Given the description of an element on the screen output the (x, y) to click on. 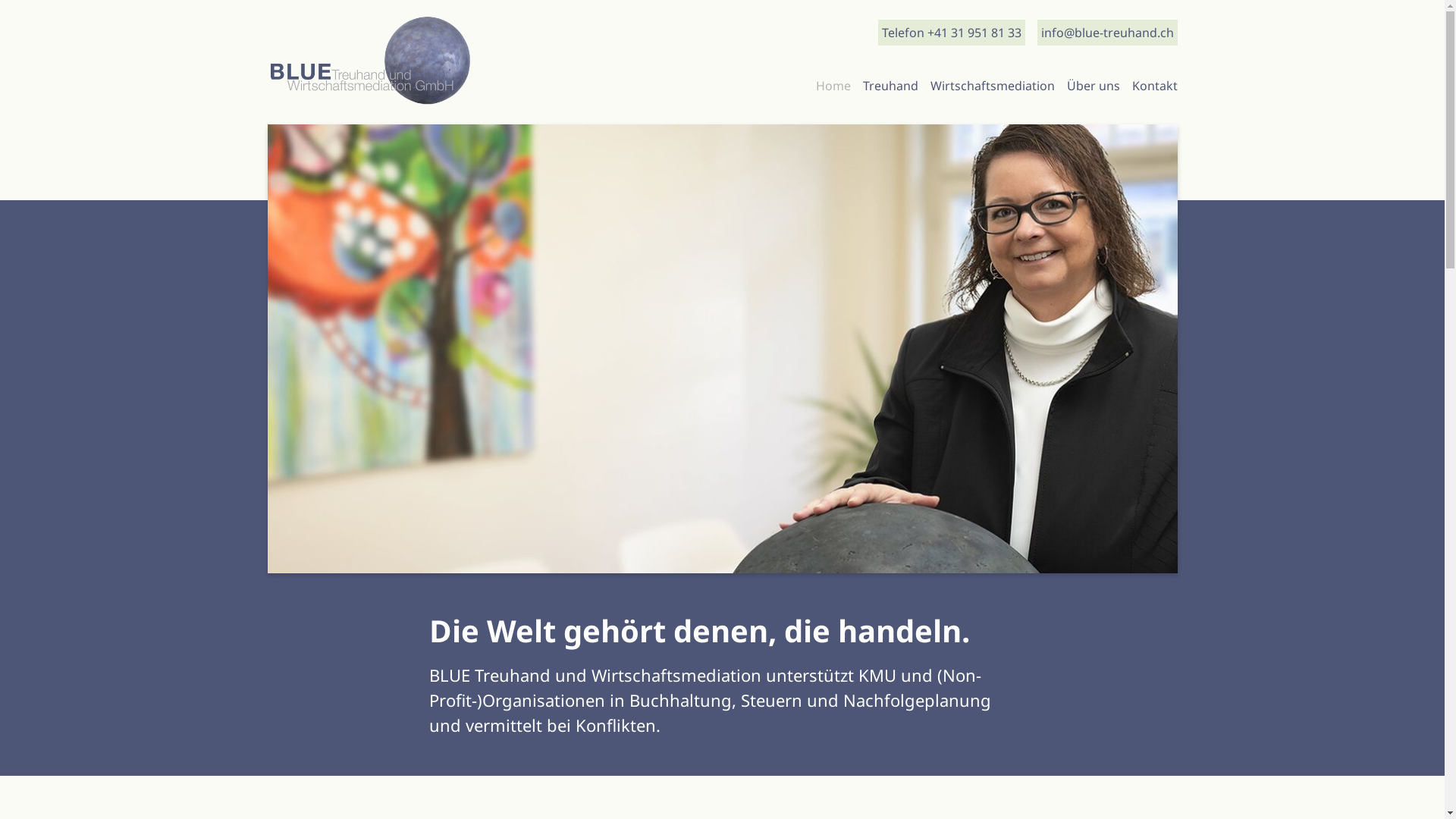
Wirtschaftsmediation Element type: text (991, 85)
Treuhand Element type: text (890, 85)
Telefon +41 31 951 81 33 Element type: text (951, 32)
Kontakt Element type: text (1153, 85)
info@blue-treuhand.ch Element type: text (1107, 32)
